Given the description of an element on the screen output the (x, y) to click on. 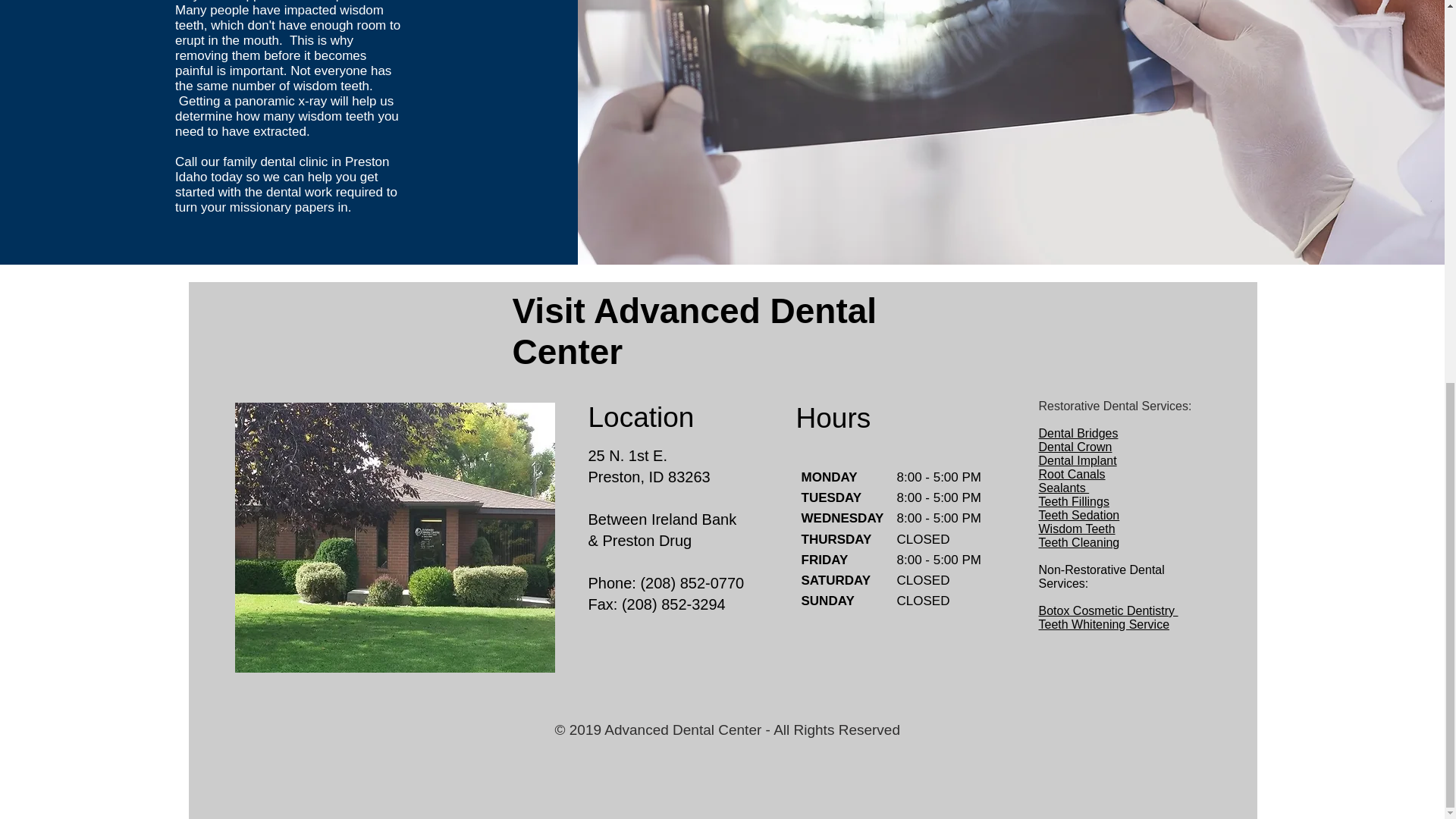
Teeth Sedation (1079, 514)
Root Canals (1072, 473)
Teeth Cleaning (1079, 542)
Dental Implant (1077, 460)
Botox Cosmetic Dentistry  (1108, 610)
Dental Bridges (1078, 432)
Teeth Fillings (1074, 501)
Sealants  (1064, 487)
Teeth Whitening Service (1104, 624)
Dental Crown (1075, 446)
Wisdom Teeth (1077, 528)
